Given the description of an element on the screen output the (x, y) to click on. 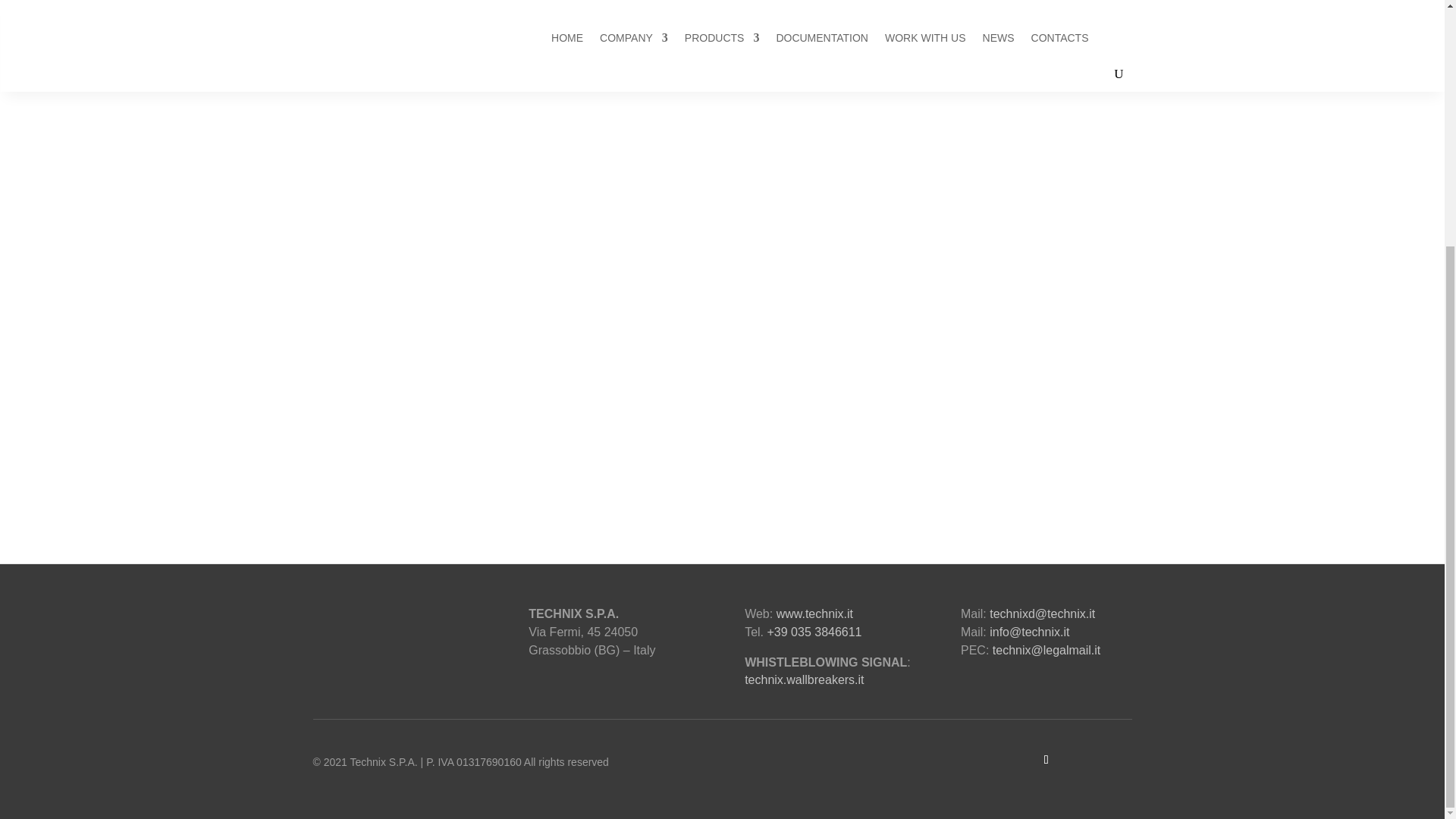
Logo Technix IMD Group company (380, 632)
www.technix.it (814, 613)
technix.wallbreakers.it (803, 679)
Follow on LinkedIn (1045, 759)
